Given the description of an element on the screen output the (x, y) to click on. 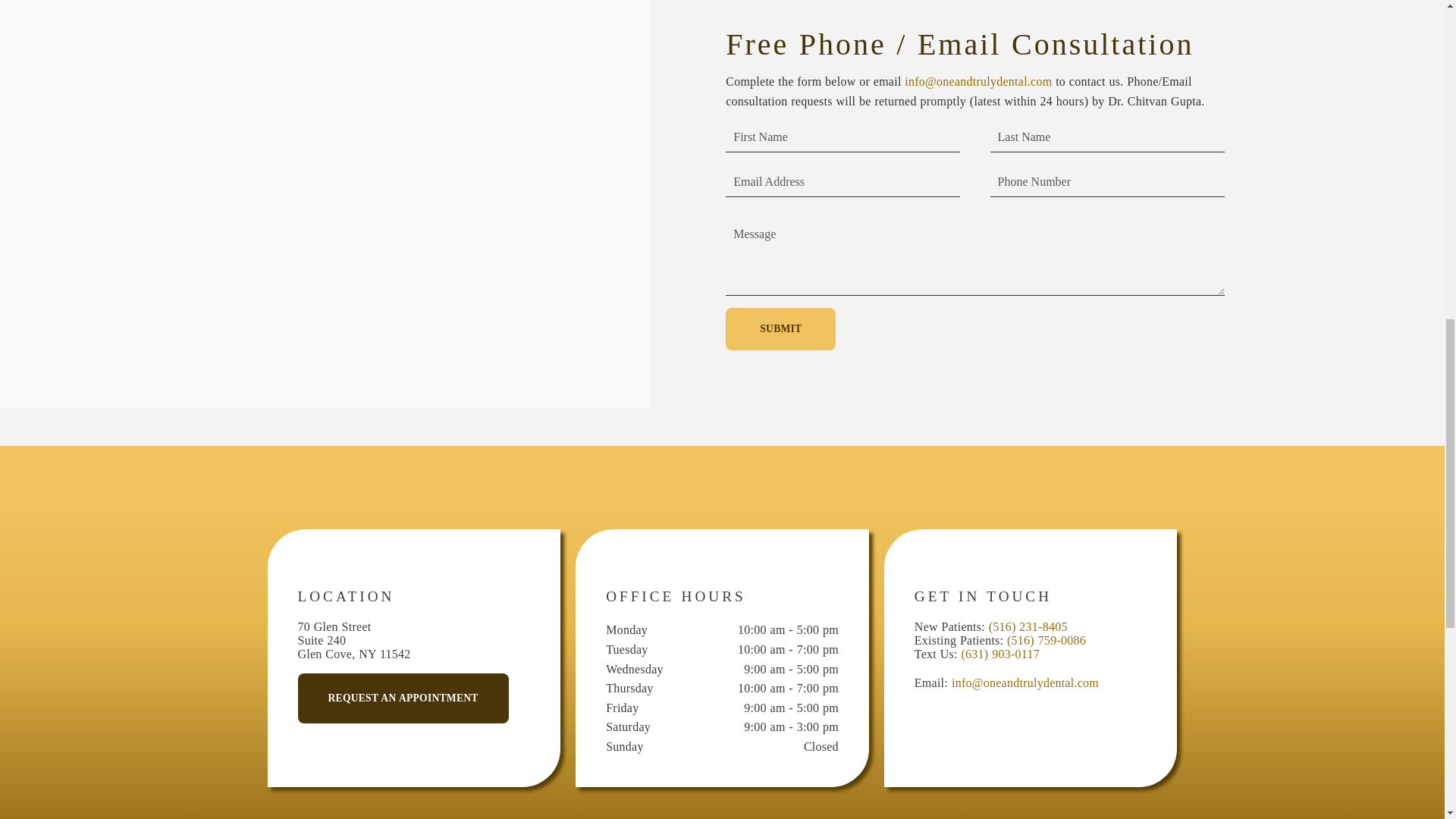
REQUEST AN APPOINTMENT (402, 698)
